Given the description of an element on the screen output the (x, y) to click on. 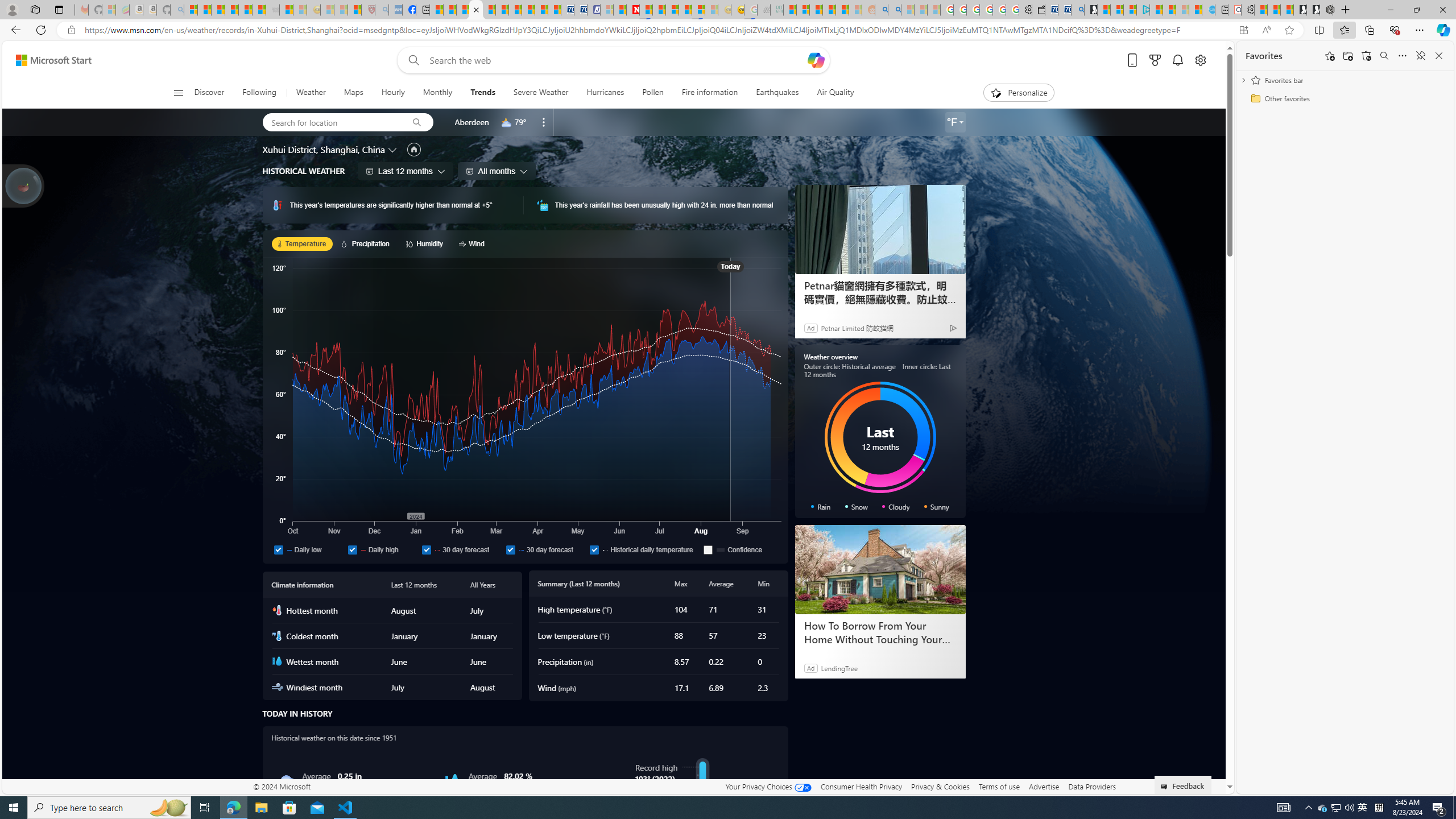
Air Quality (835, 92)
Join us in planting real trees to help our planet! (23, 184)
Local - MSN (354, 9)
Daily high (382, 549)
30 day forecast (510, 549)
Pollen (652, 92)
